Given the description of an element on the screen output the (x, y) to click on. 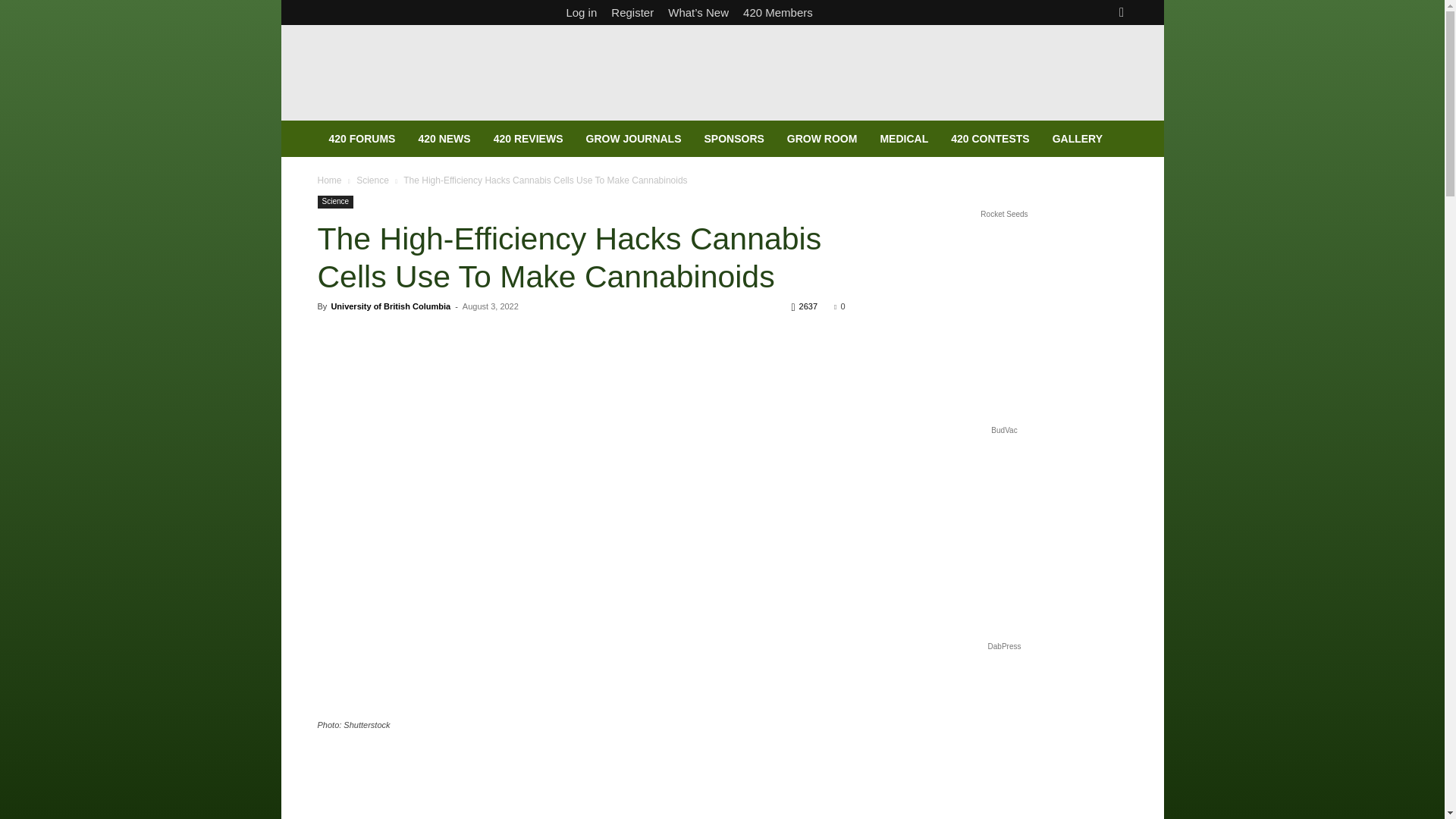
View all posts in Science (372, 180)
